Given the description of an element on the screen output the (x, y) to click on. 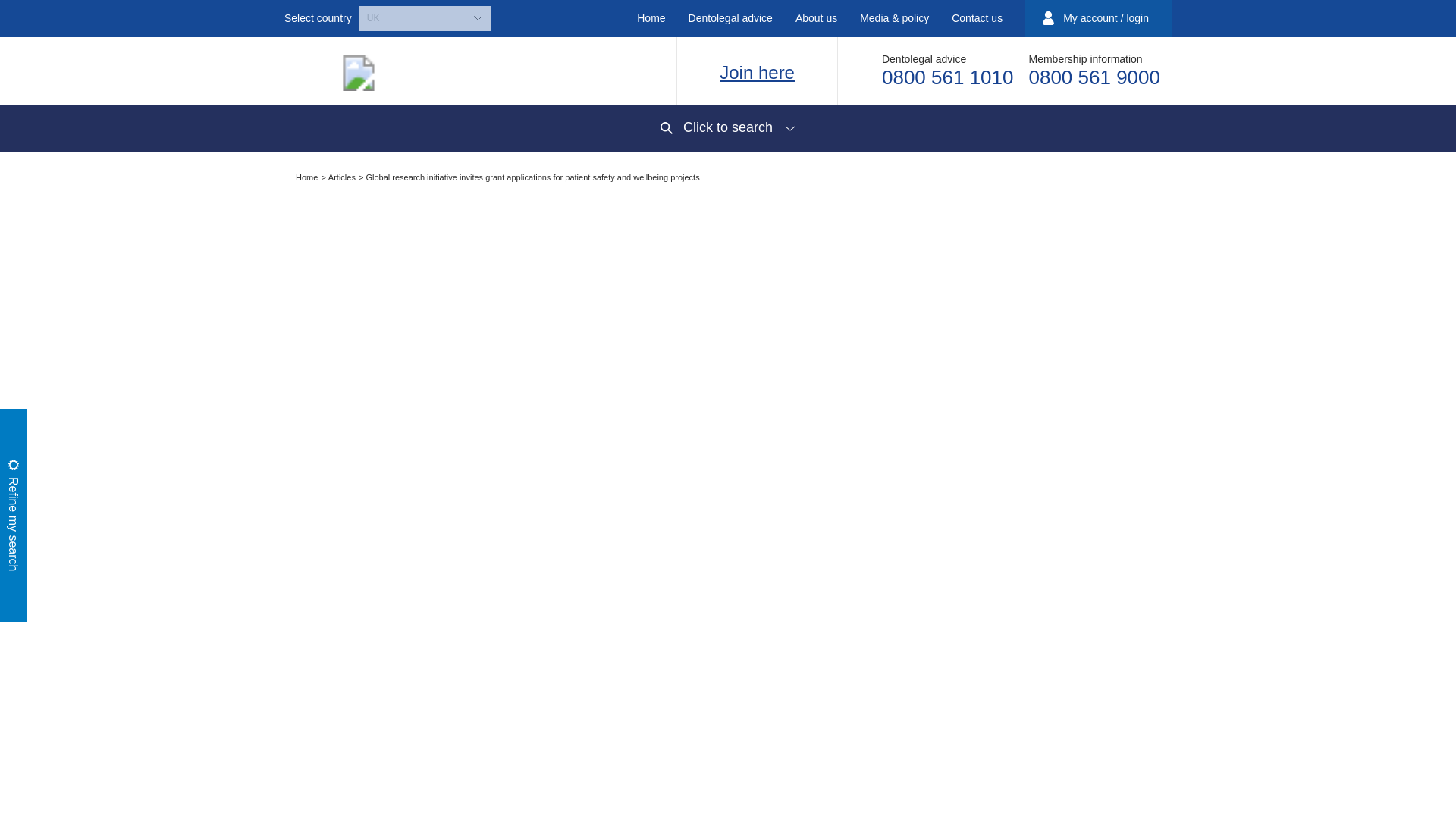
0800 561 1010 (947, 77)
Join here (756, 72)
Dentolegal advice (730, 18)
Refine my search (105, 422)
Search (941, 258)
Click to search (727, 127)
Search (569, 575)
Home (307, 176)
0800 561 9000 (1093, 77)
Contact us (976, 18)
About us (816, 18)
Home (651, 18)
Articles (343, 176)
